Given the description of an element on the screen output the (x, y) to click on. 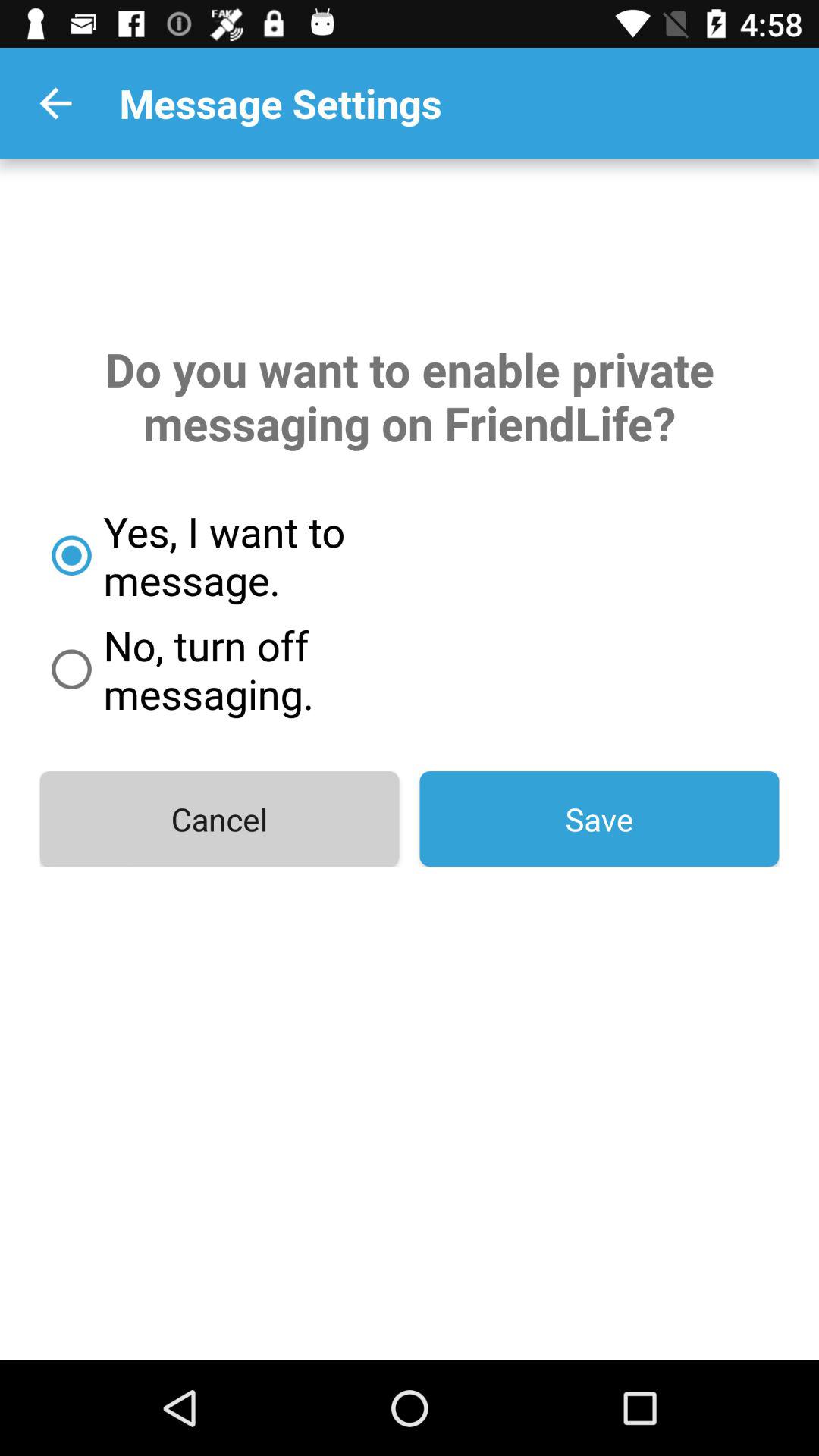
click the item to the left of the save icon (219, 818)
